Given the description of an element on the screen output the (x, y) to click on. 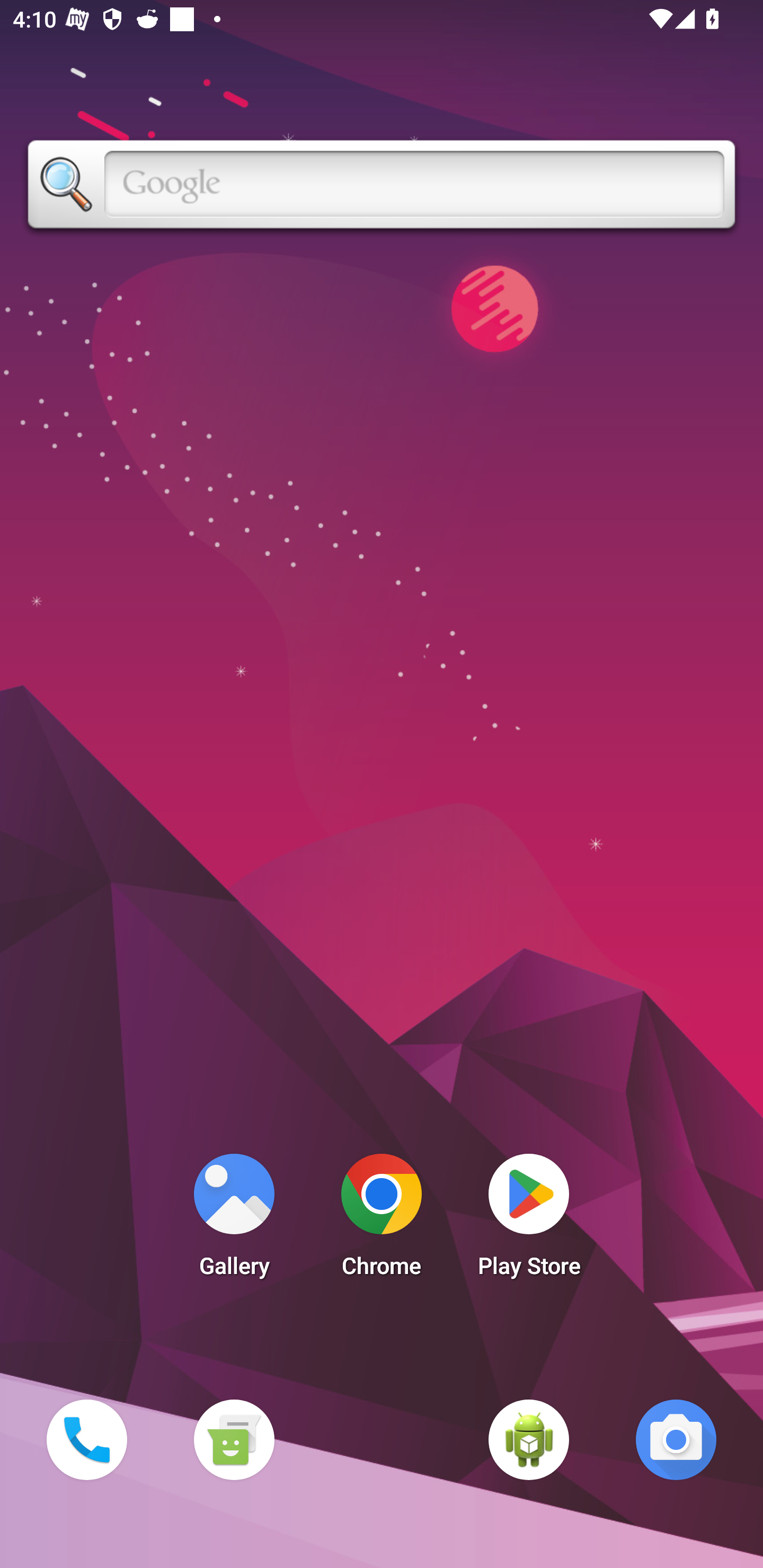
Gallery (233, 1220)
Chrome (381, 1220)
Play Store (528, 1220)
Phone (86, 1439)
Messaging (233, 1439)
WebView Browser Tester (528, 1439)
Camera (676, 1439)
